Given the description of an element on the screen output the (x, y) to click on. 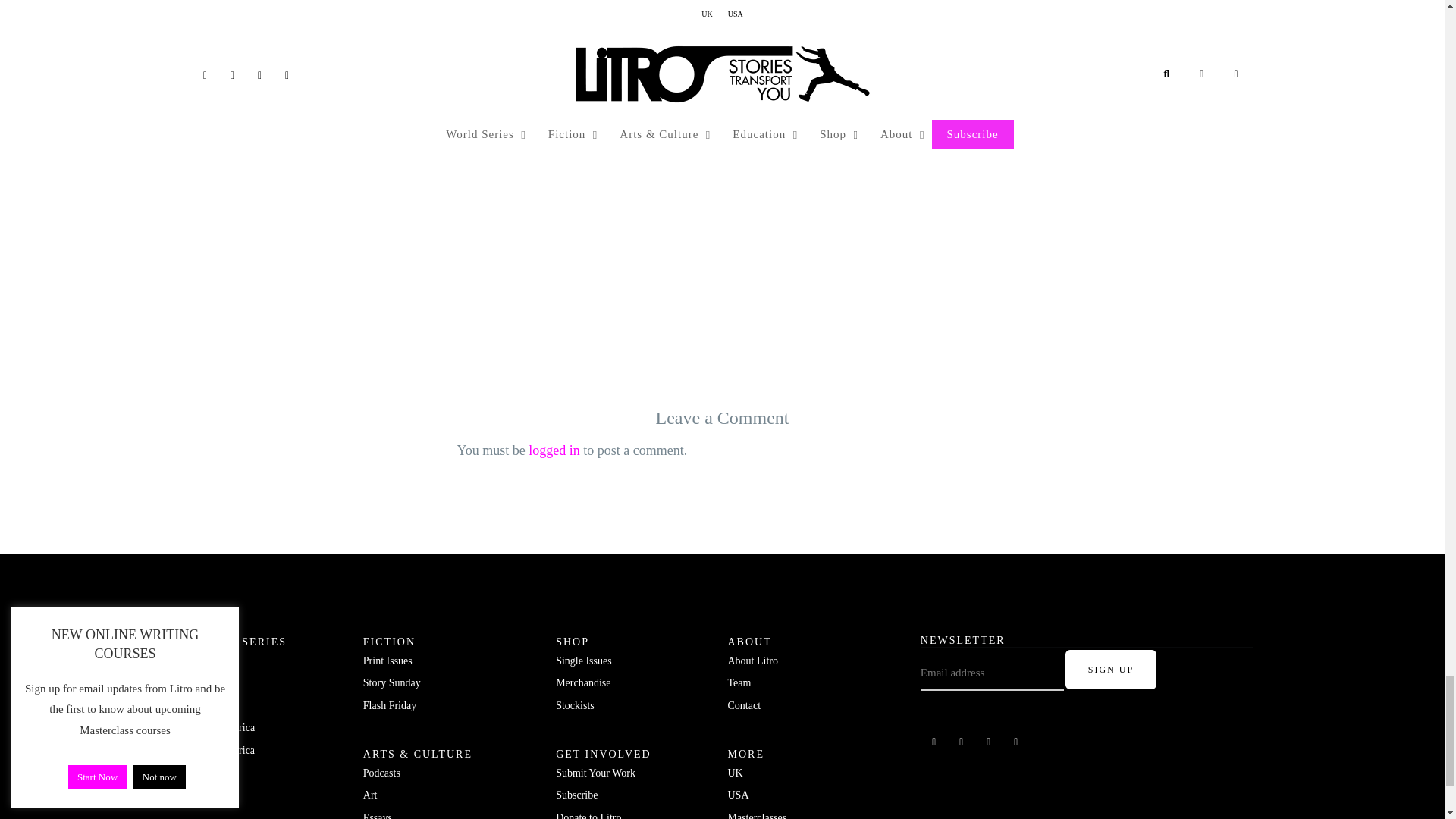
Flickr (961, 742)
Sign up (1110, 669)
Facebook (933, 742)
